Given the description of an element on the screen output the (x, y) to click on. 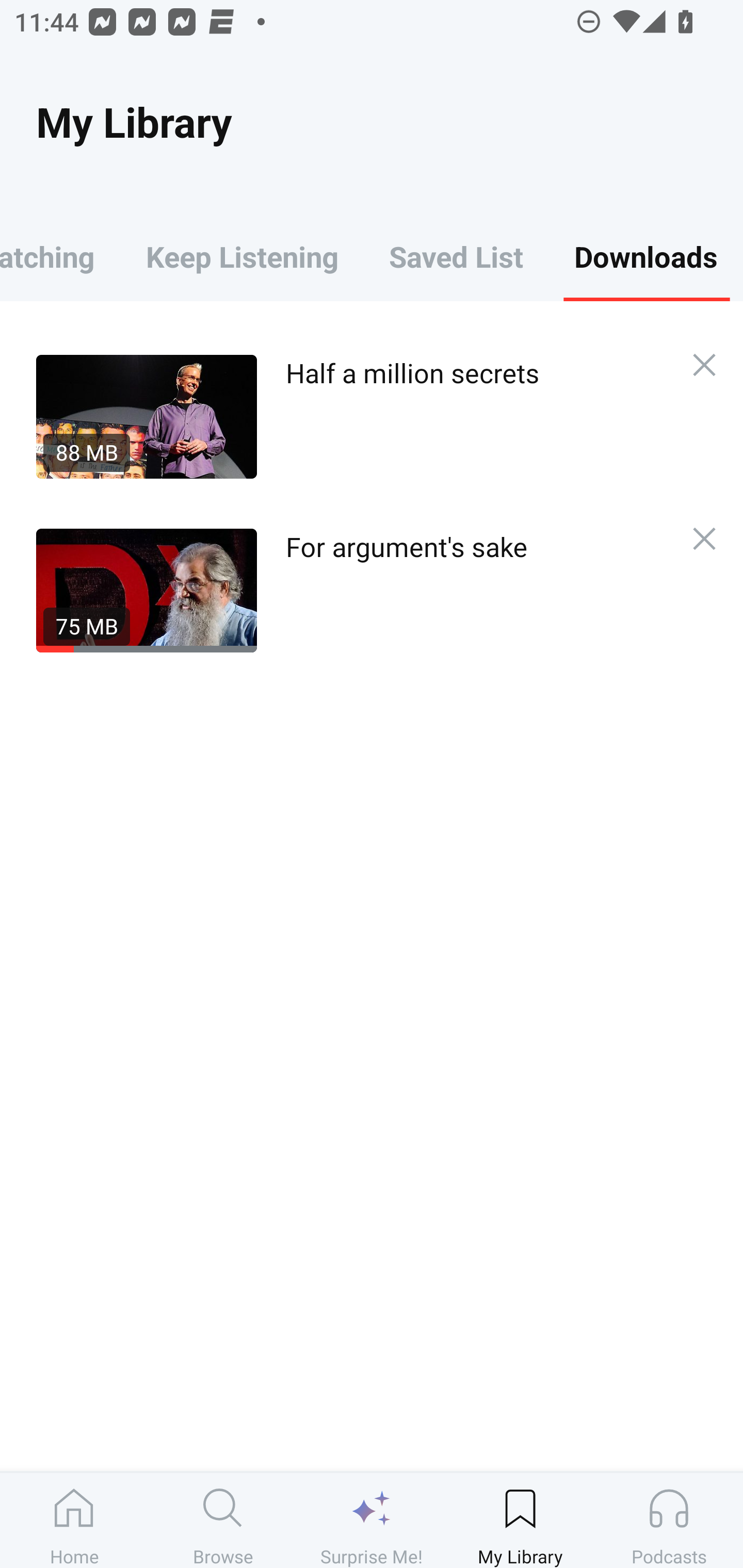
Keep Watching (60, 256)
Keep Listening (242, 256)
Saved List (456, 256)
Downloads (646, 256)
88 MB Half a million secrets (353, 416)
75 MB For argument's sake (353, 590)
Home (74, 1520)
Browse (222, 1520)
Surprise Me! (371, 1520)
My Library (519, 1520)
Podcasts (668, 1520)
